Given the description of an element on the screen output the (x, y) to click on. 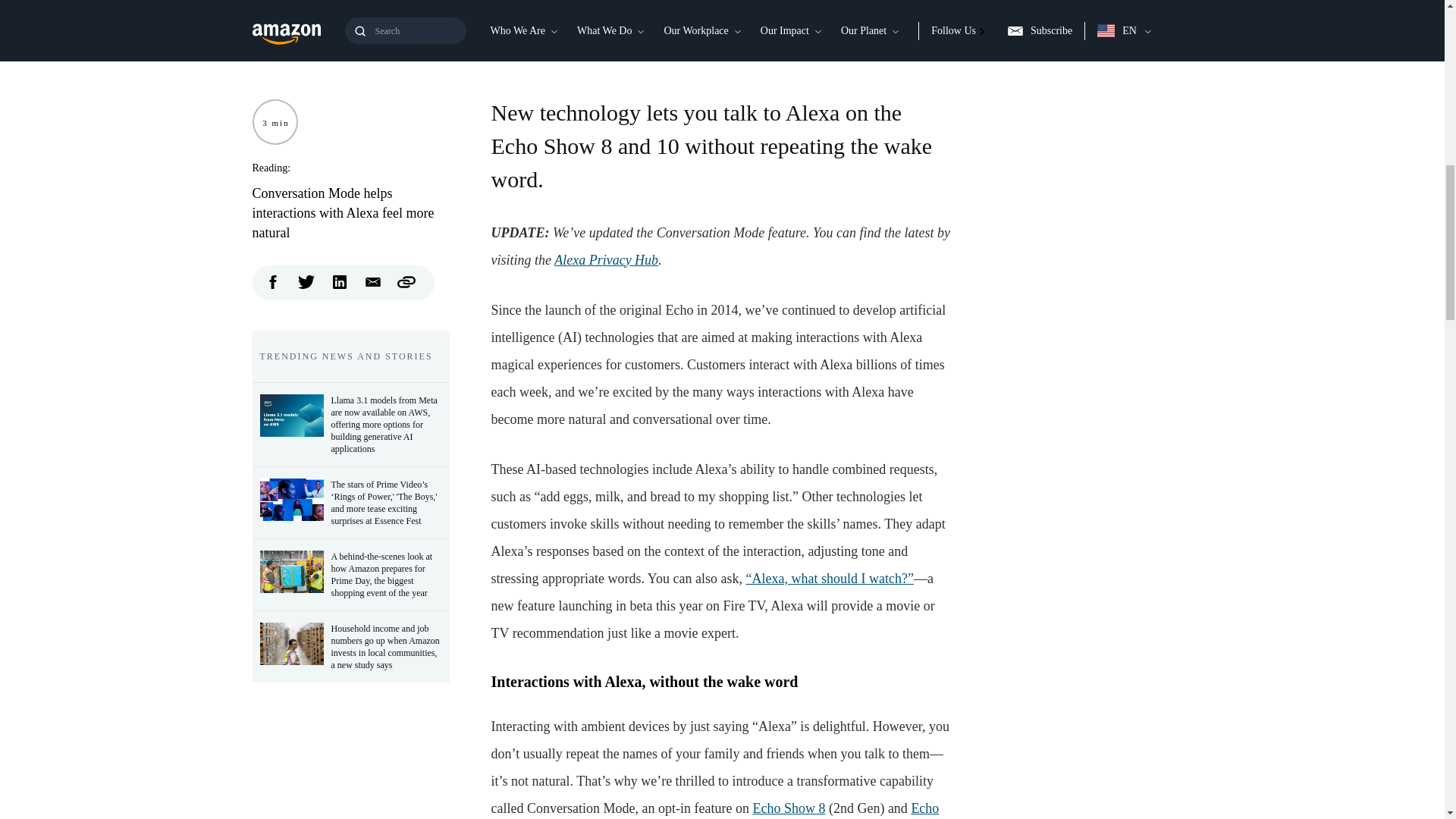
Twitter Share (306, 279)
email (372, 279)
Facebook Share (272, 279)
copy link (405, 279)
LinkedIn Share (339, 279)
